Given the description of an element on the screen output the (x, y) to click on. 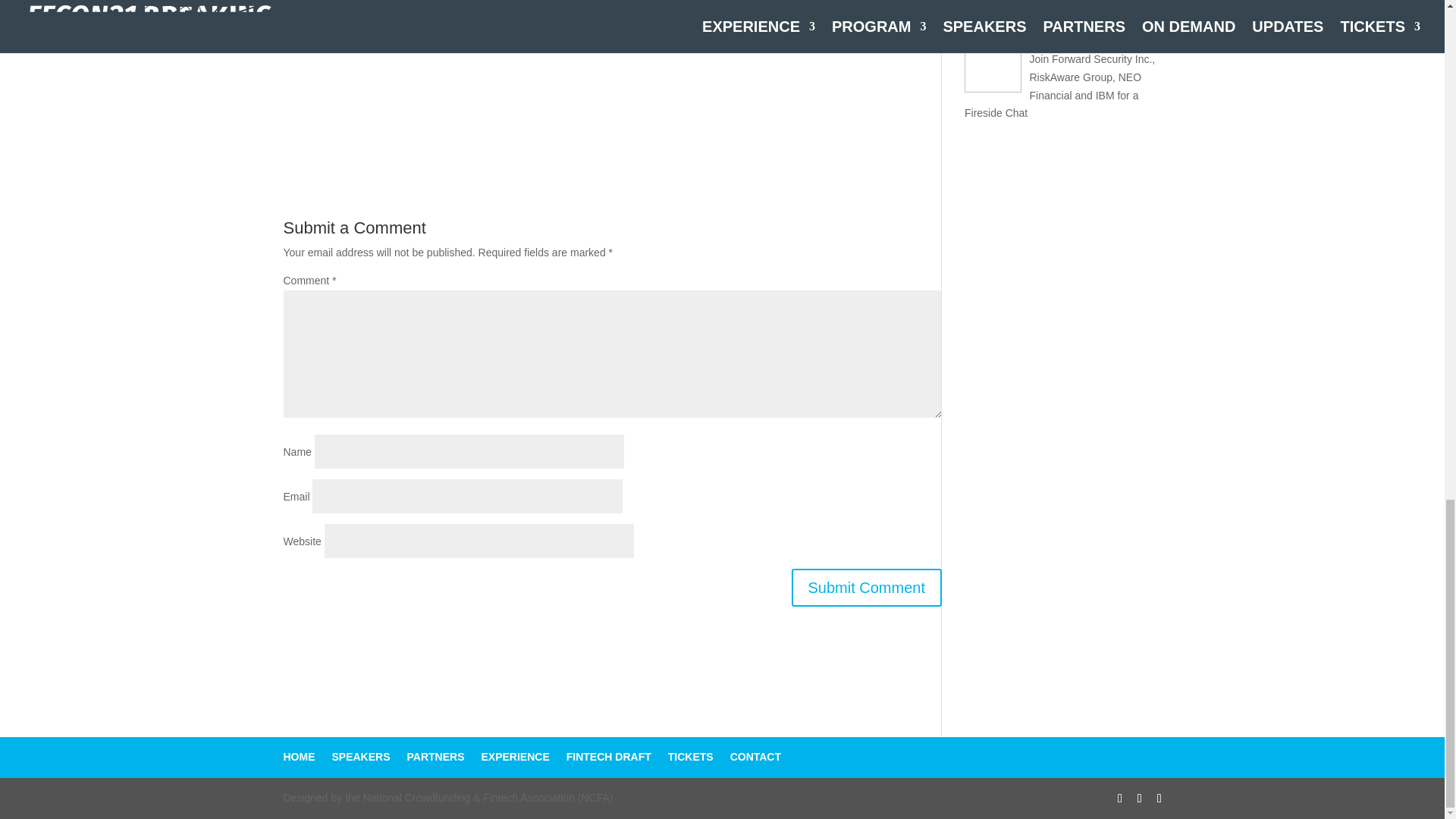
Submit Comment (867, 587)
Submit Comment (867, 587)
